Given the description of an element on the screen output the (x, y) to click on. 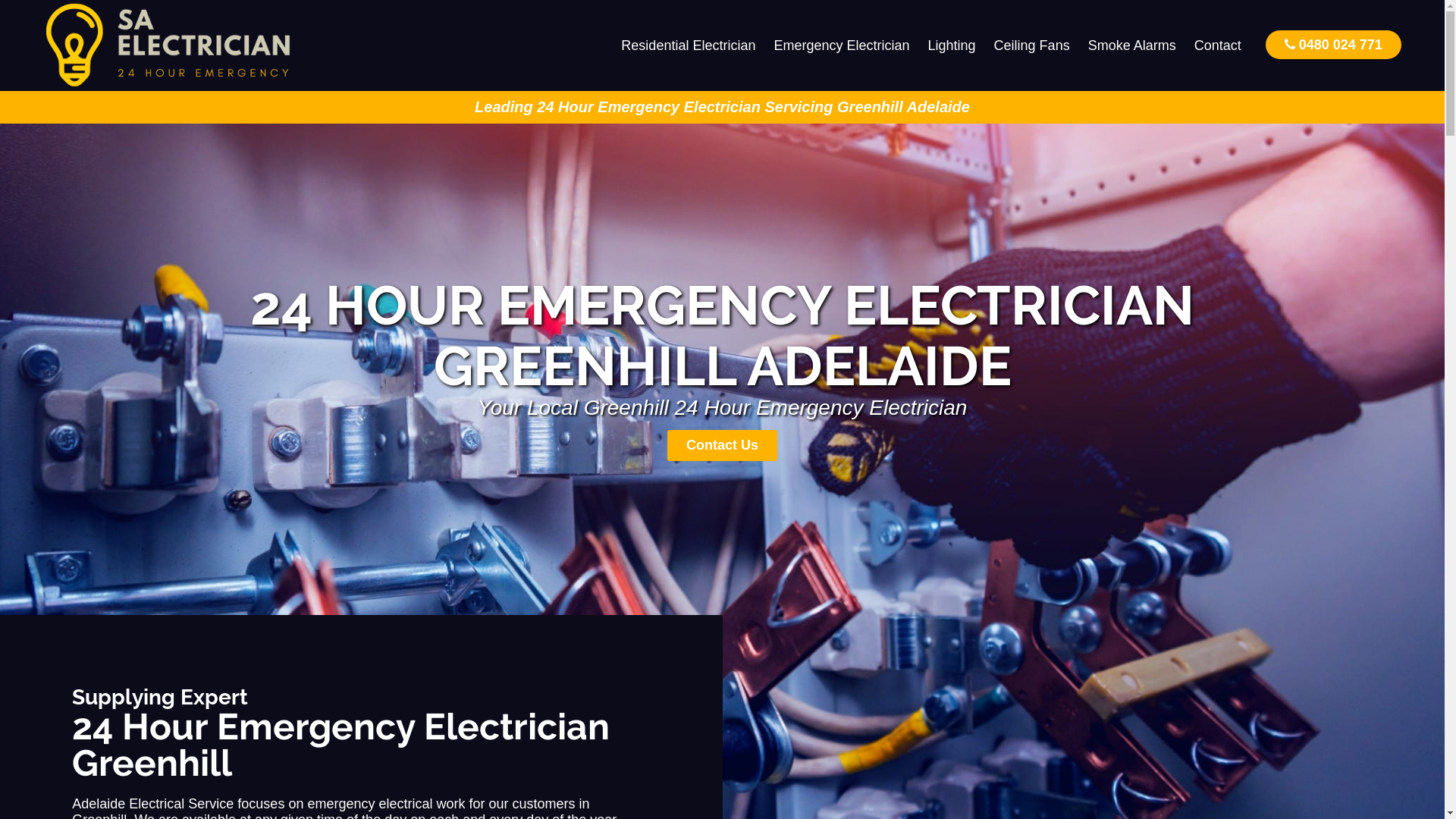
0480 024 771 Element type: text (1333, 44)
Contact Element type: text (1217, 45)
Smoke Alarms Element type: text (1132, 45)
Ceiling Fans Element type: text (1032, 45)
Emergency Electrician Element type: text (841, 45)
Contact Us Element type: text (722, 445)
Residential Electrician Element type: text (687, 45)
Lighting Element type: text (952, 45)
